Given the description of an element on the screen output the (x, y) to click on. 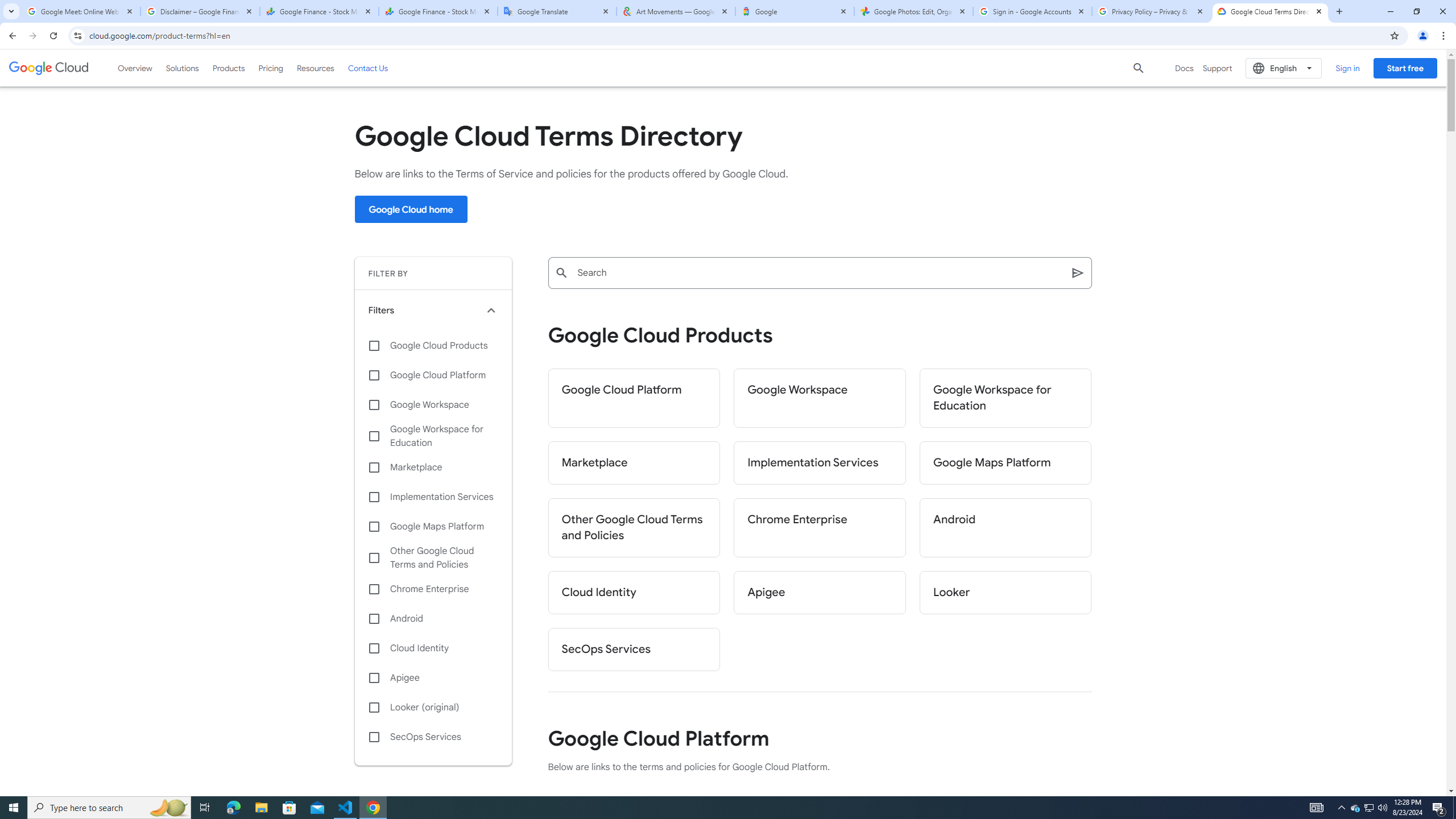
Resources (314, 67)
Pricing (270, 67)
Google Cloud Terms Directory | Google Cloud (1270, 11)
Cloud Identity (633, 592)
Marketplace (432, 467)
SecOps Services (633, 649)
Google Maps Platform (432, 526)
Apigee (819, 592)
Chrome Enterprise (819, 527)
